Given the description of an element on the screen output the (x, y) to click on. 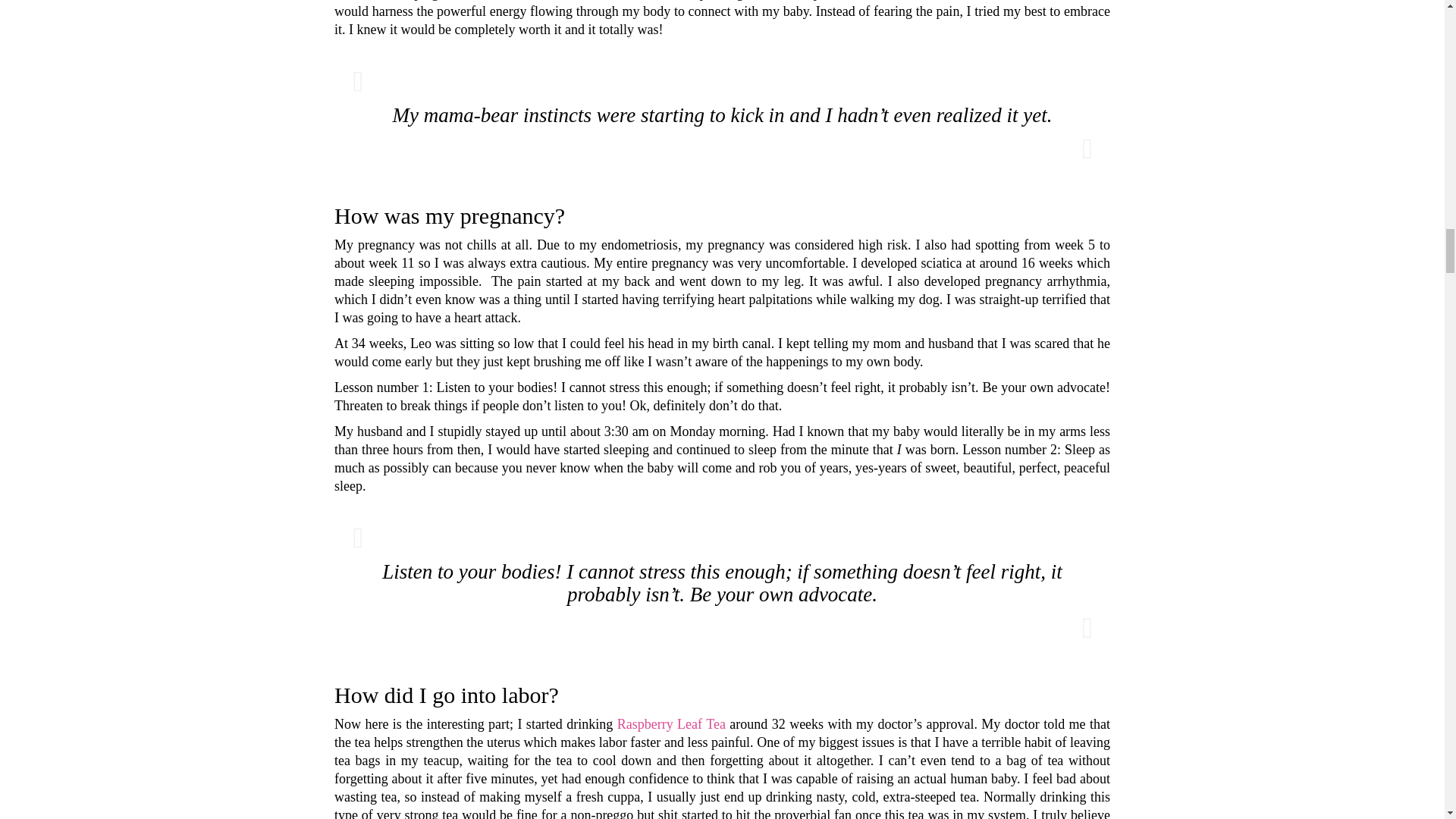
Raspberry Leaf Tea (671, 724)
